Given the description of an element on the screen output the (x, y) to click on. 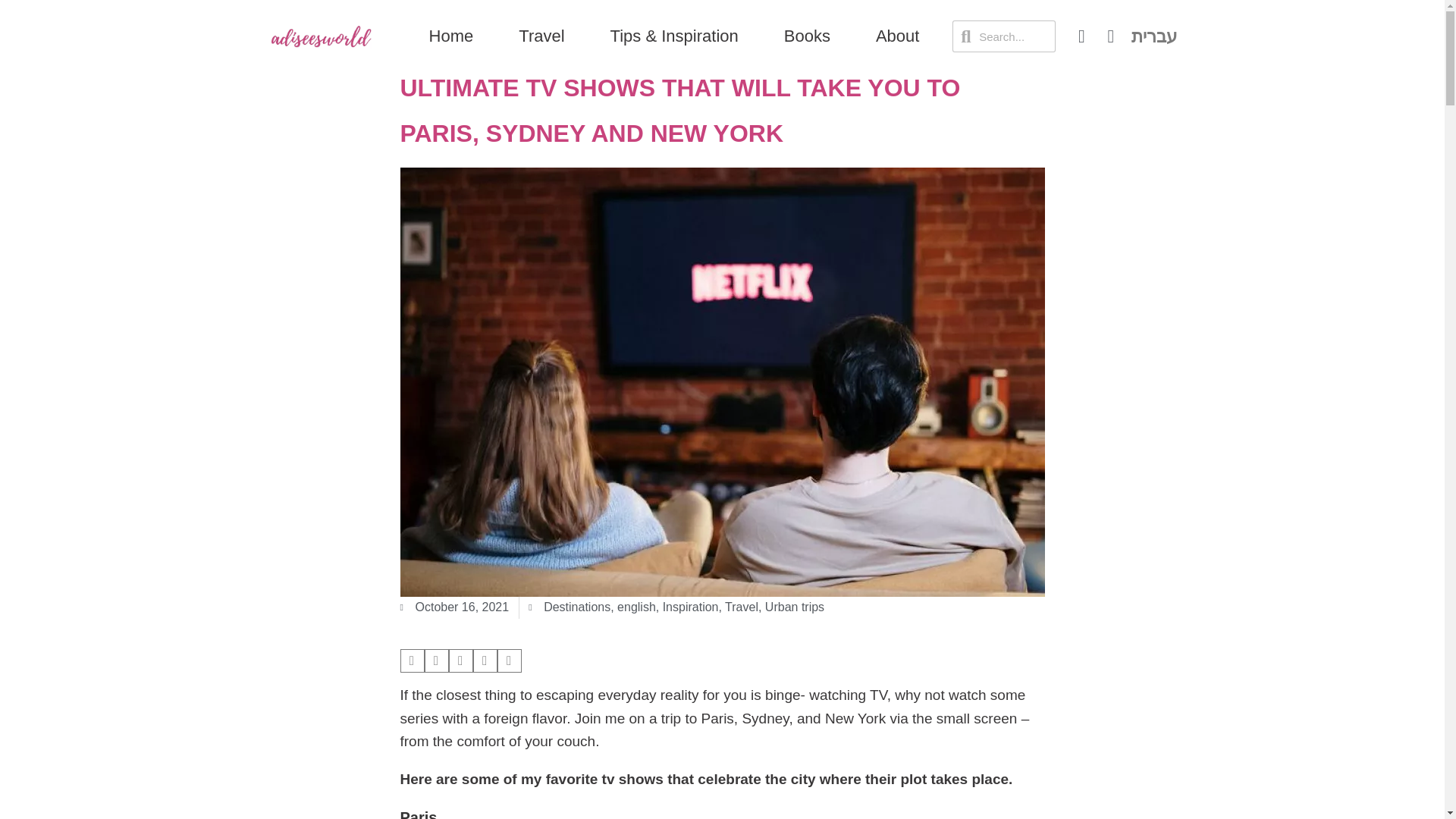
Books (806, 36)
About (897, 36)
Home (451, 36)
Travel (541, 36)
